Given the description of an element on the screen output the (x, y) to click on. 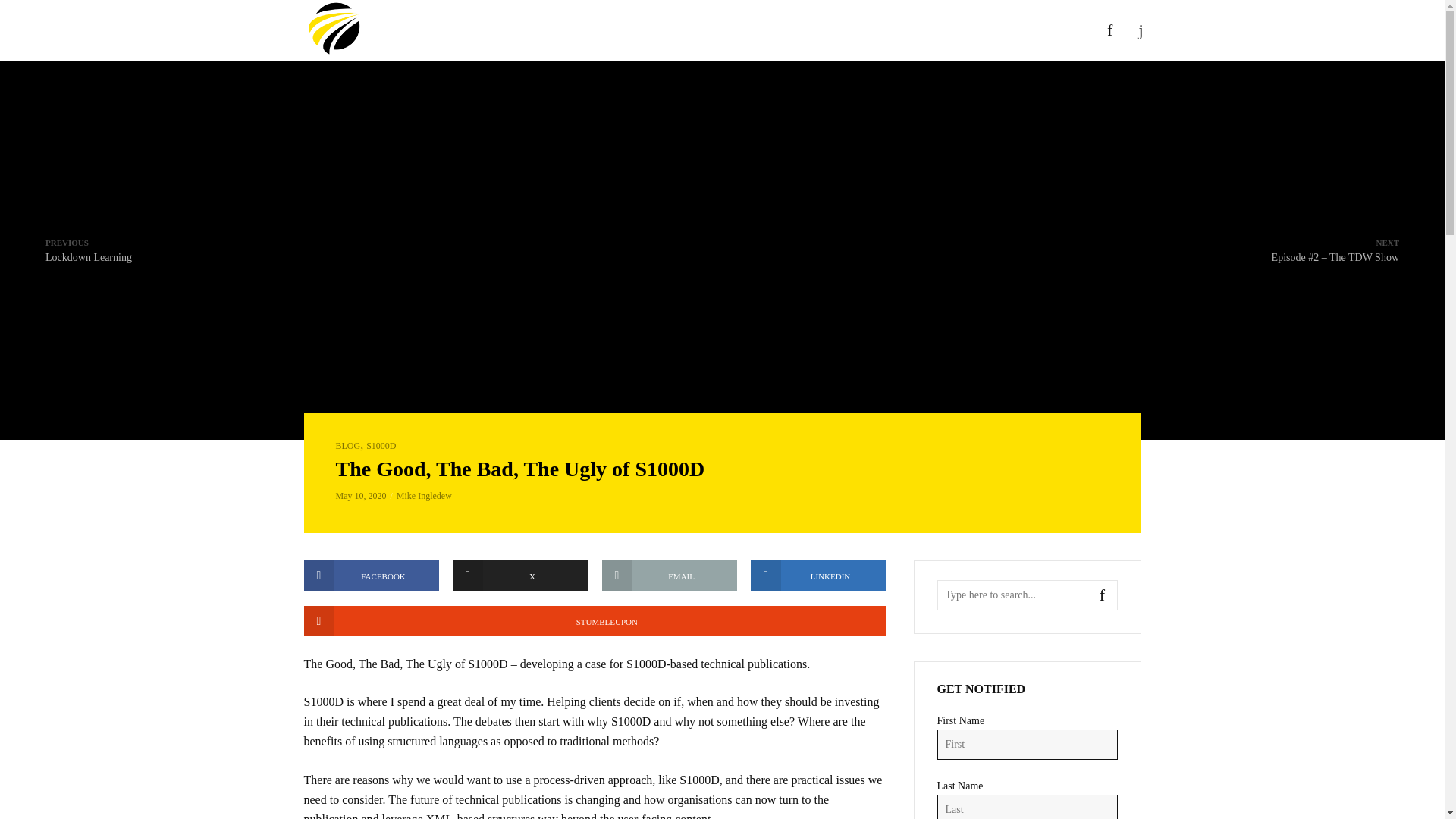
FACEBOOK (370, 575)
LINKEDIN (818, 575)
S1000D (88, 250)
X (381, 445)
STUMBLEUPON (520, 575)
BLOG (593, 621)
EMAIL (346, 445)
Mike Ingledew (670, 575)
